Given the description of an element on the screen output the (x, y) to click on. 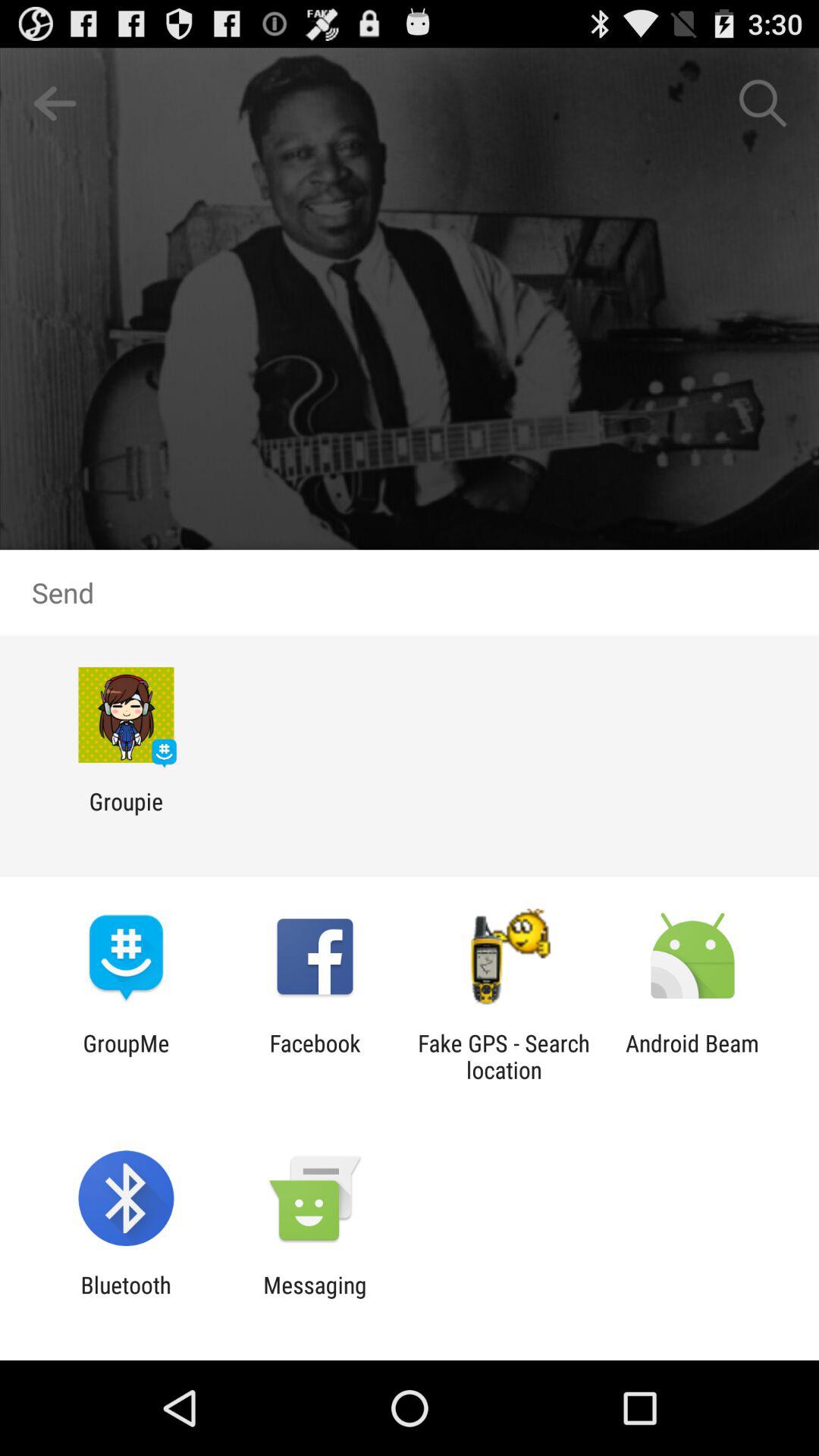
tap icon to the right of the groupme item (314, 1056)
